Given the description of an element on the screen output the (x, y) to click on. 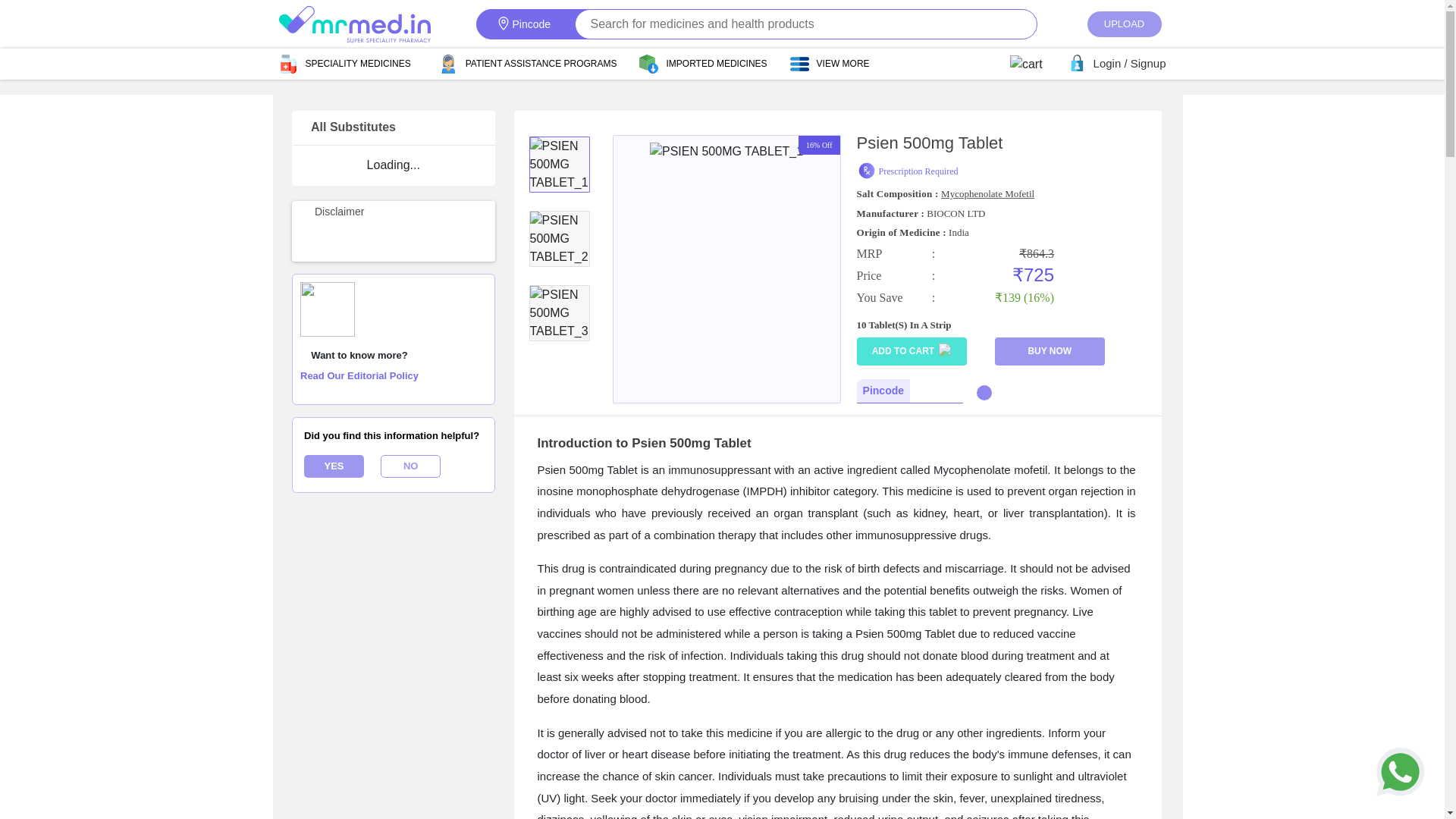
PATIENT ASSISTANCE PROGRAMS (539, 62)
BUY NOW (1049, 350)
NO (410, 466)
Mycophenolate Mofetil (986, 193)
IMPORTED MEDICINES (714, 62)
ADD TO CART (911, 350)
UPLOAD (1123, 23)
MrMed (354, 23)
YES (334, 466)
